Given the description of an element on the screen output the (x, y) to click on. 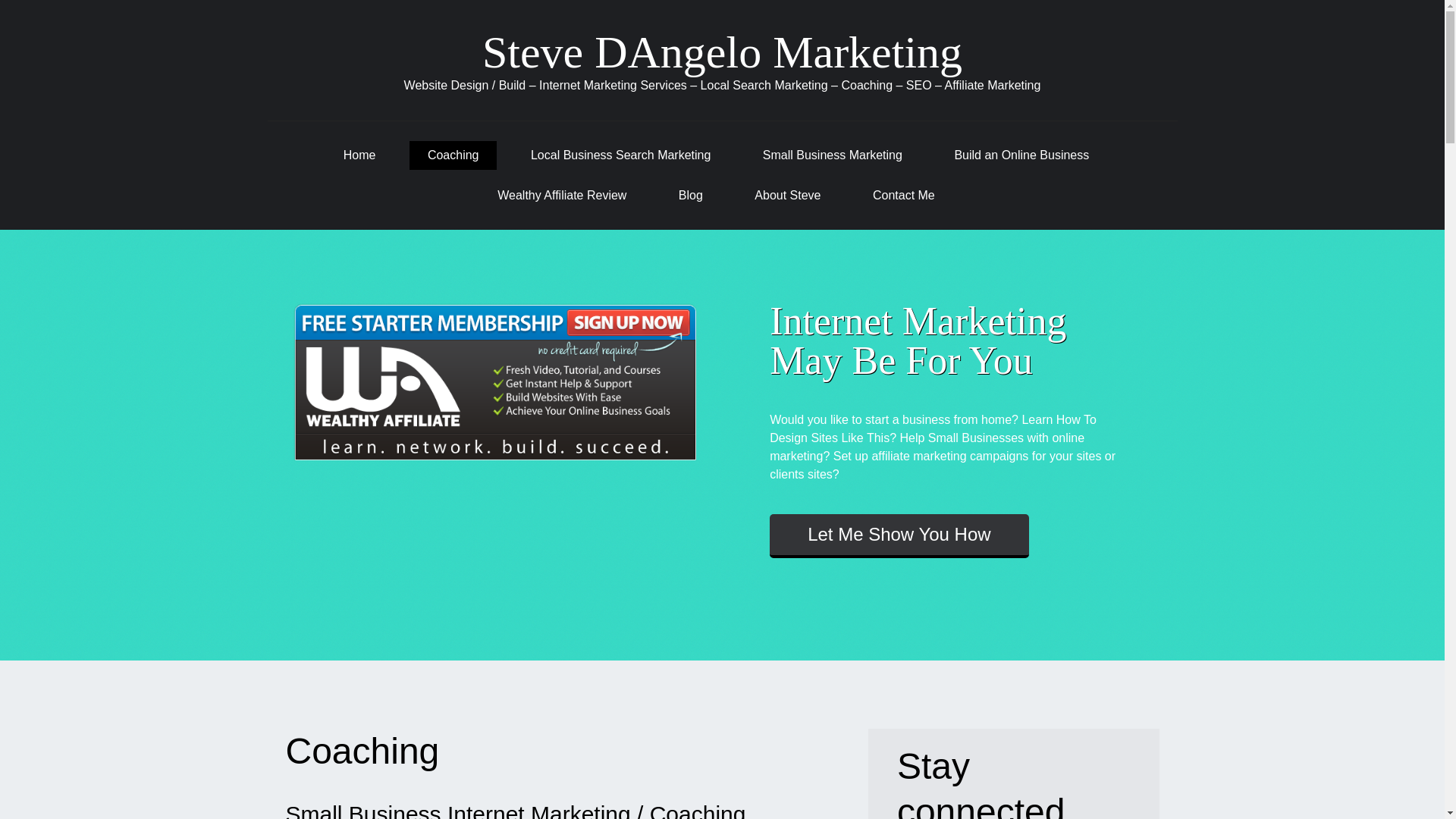
Skip to content (306, 145)
Let Me Show You How (899, 535)
Steve DAngelo Marketing (721, 51)
Small Business Marketing (832, 155)
About Steve (787, 195)
Blog (690, 195)
Steve DAngelo Marketing (721, 51)
Local Business Search Marketing (620, 155)
Coaching (453, 155)
Home (359, 155)
Skip to content (306, 145)
Build an Online Business (1021, 155)
Wealthy Affiliate Review (561, 195)
Contact Me (903, 195)
